Given the description of an element on the screen output the (x, y) to click on. 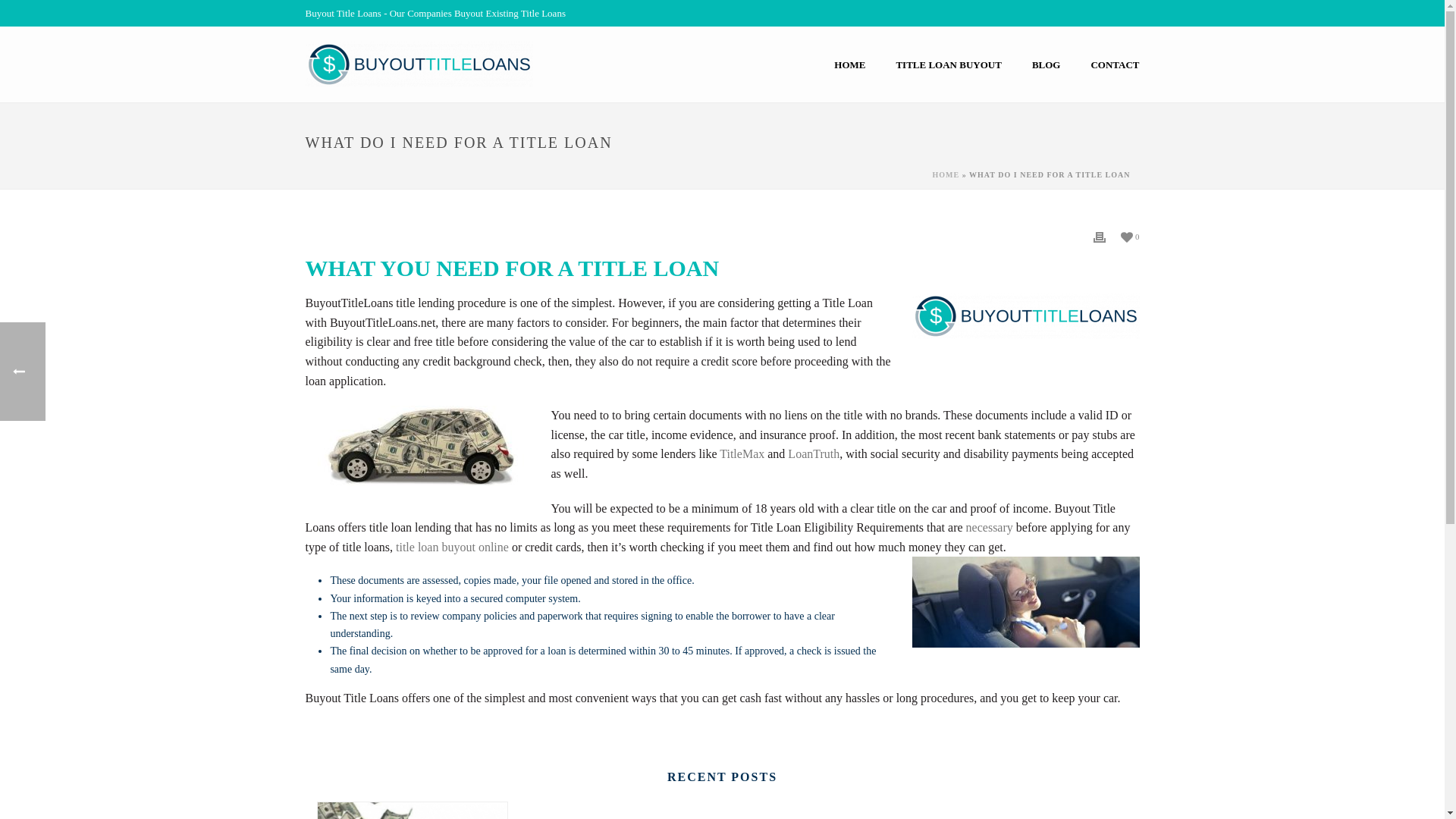
CONTACT (1114, 65)
CONTACT (1114, 65)
title loan buyout online (452, 546)
LoanTruth (813, 453)
BLOG (1045, 65)
HOME (946, 174)
HOME (849, 65)
Our Companies Buyout Existing Title Loans (418, 63)
0 (1130, 235)
TITLE LOAN BUYOUT (948, 65)
